Given the description of an element on the screen output the (x, y) to click on. 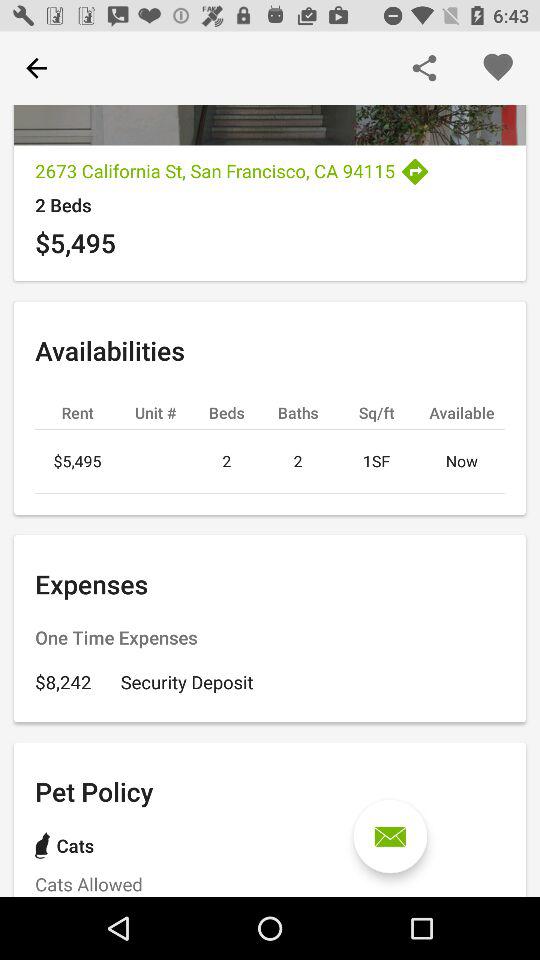
un buen alquiler que te parece (389, 836)
